Given the description of an element on the screen output the (x, y) to click on. 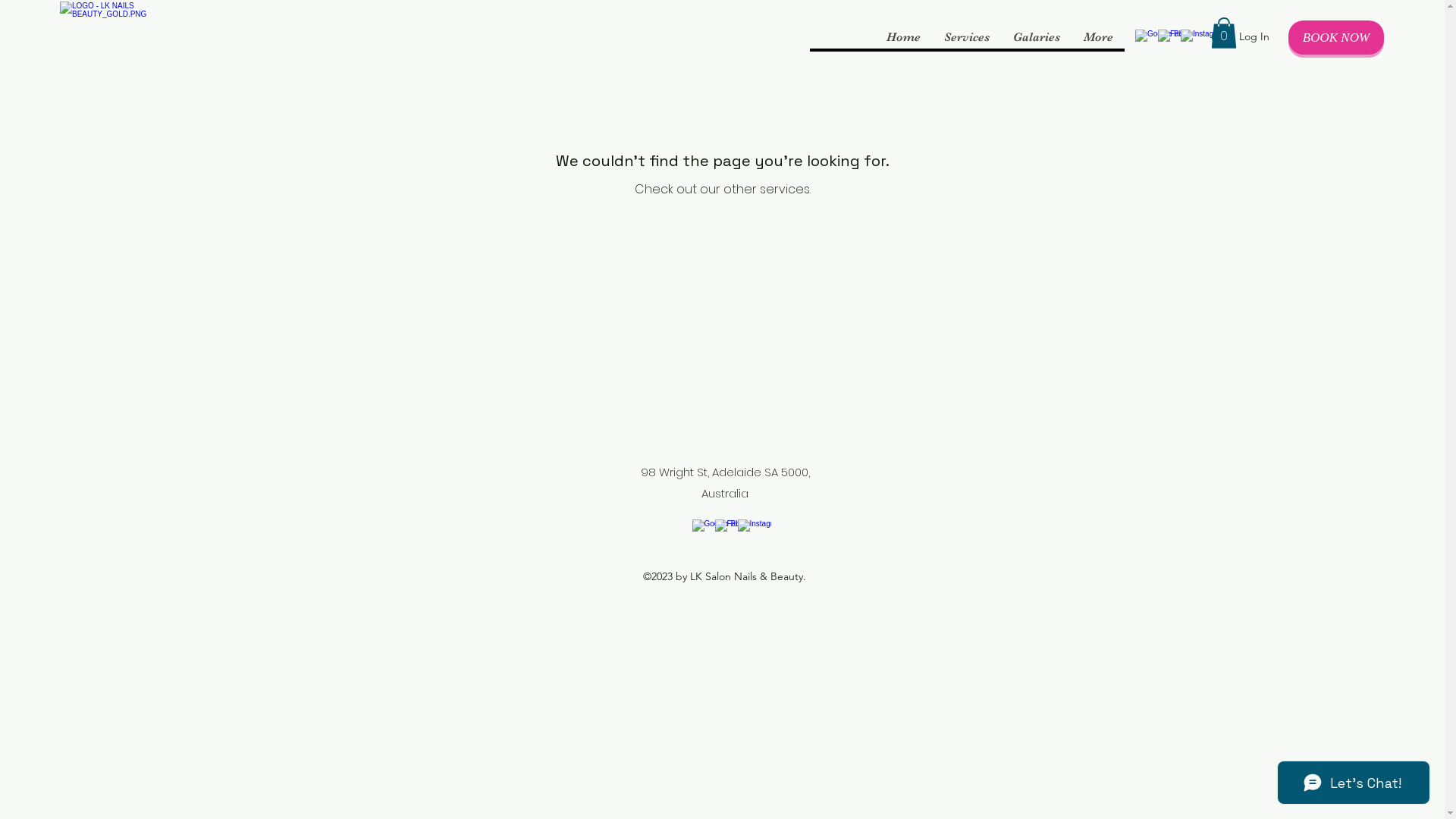
0 Element type: text (1223, 32)
Galaries Element type: text (1036, 36)
BOOK NOW Element type: text (1335, 37)
Home Element type: text (902, 36)
Services Element type: text (966, 36)
Log In Element type: text (1235, 36)
